Given the description of an element on the screen output the (x, y) to click on. 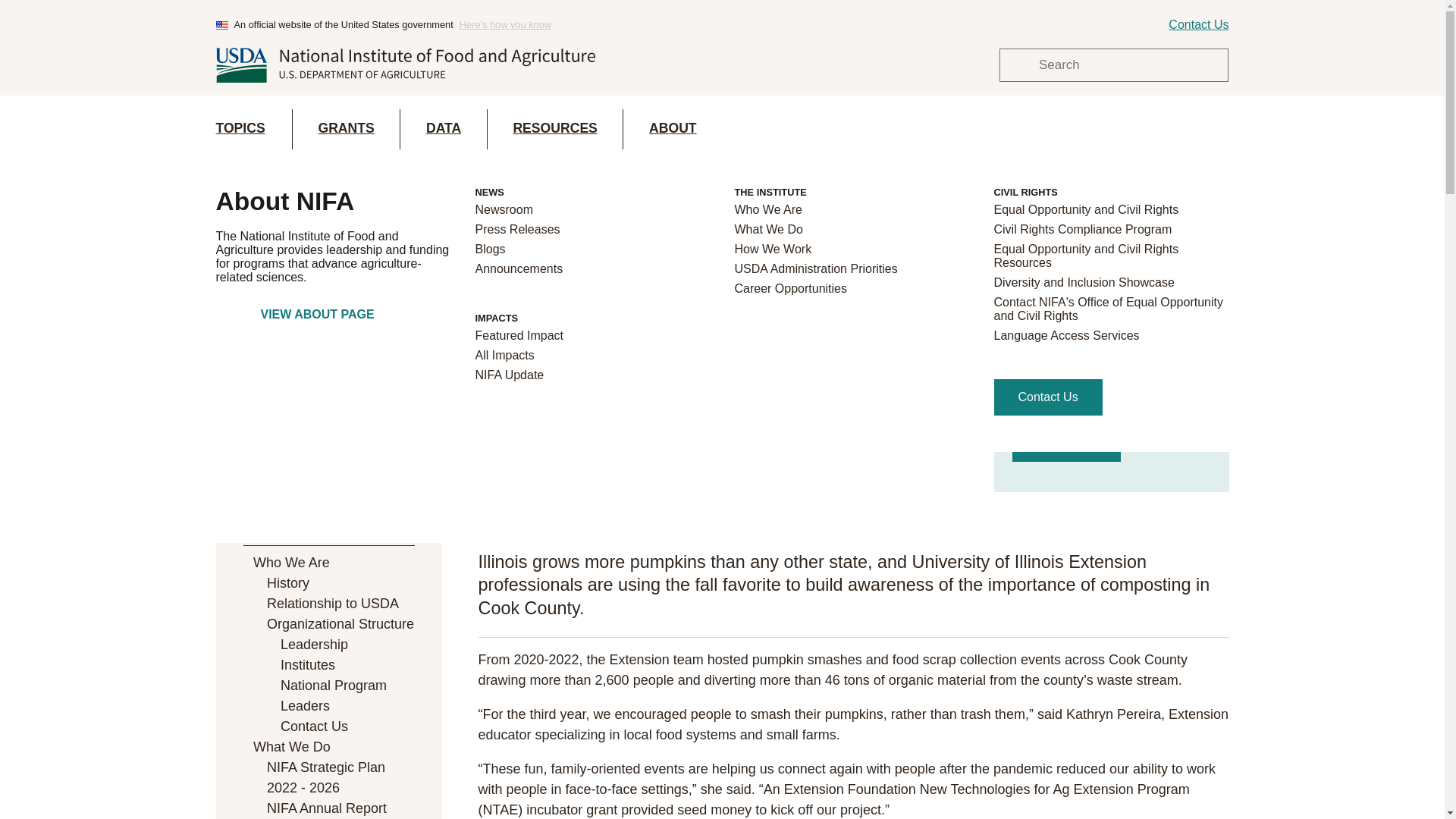
Program Operational Areas (592, 417)
International Resources (1110, 252)
 VIEW DATA PAGE (332, 327)
International Resources (1110, 252)
Home (404, 64)
Here's how you know (505, 24)
Post-Award Phase (592, 252)
Health (851, 252)
Education (1110, 232)
Advanced Technologies (851, 271)
Farming and Ranching (592, 299)
Non-Competitive (592, 397)
Human Science (851, 232)
 VIEW TOPICS PAGE (332, 314)
Natural Resources (592, 232)
